Given the description of an element on the screen output the (x, y) to click on. 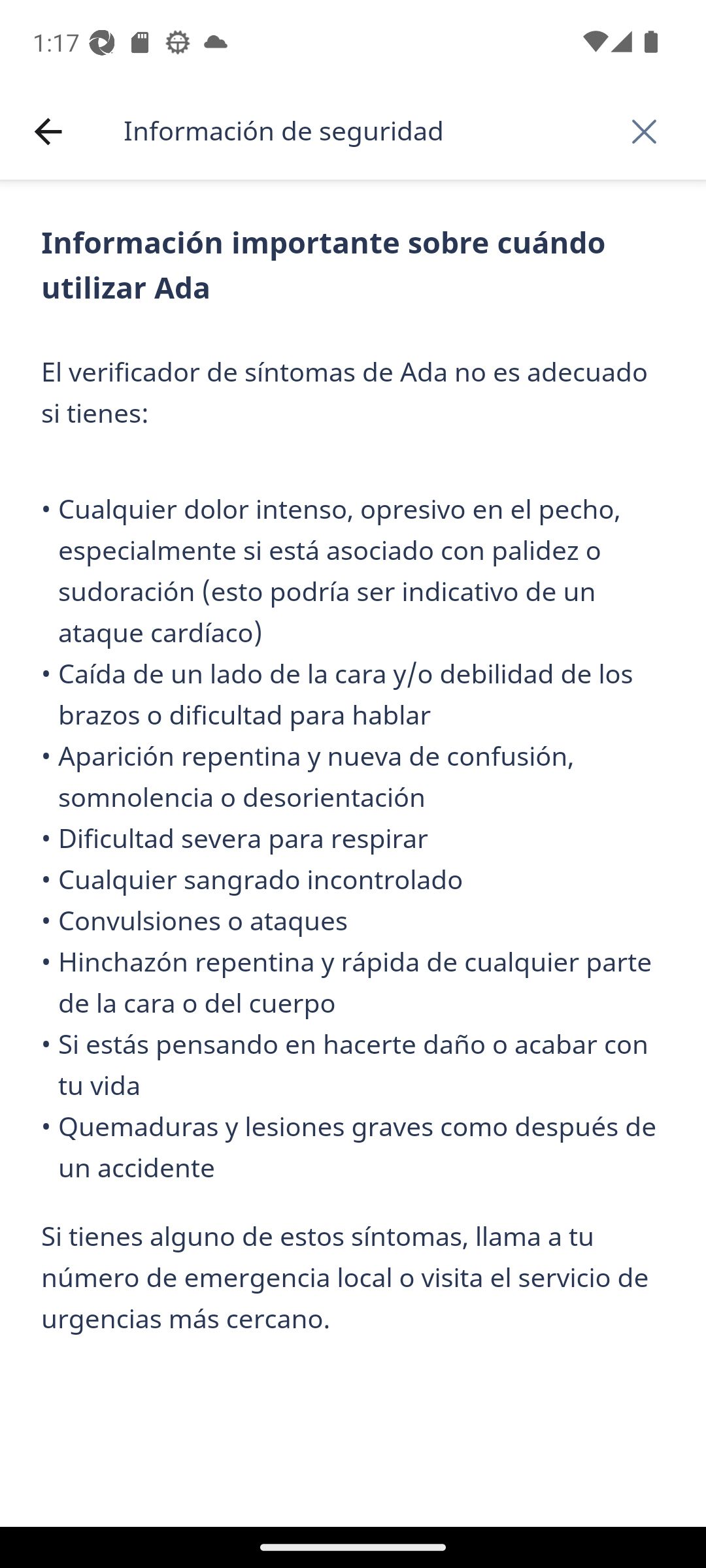
Navigate up (48, 131)
Back, Close the safety information screen (644, 131)
